Given the description of an element on the screen output the (x, y) to click on. 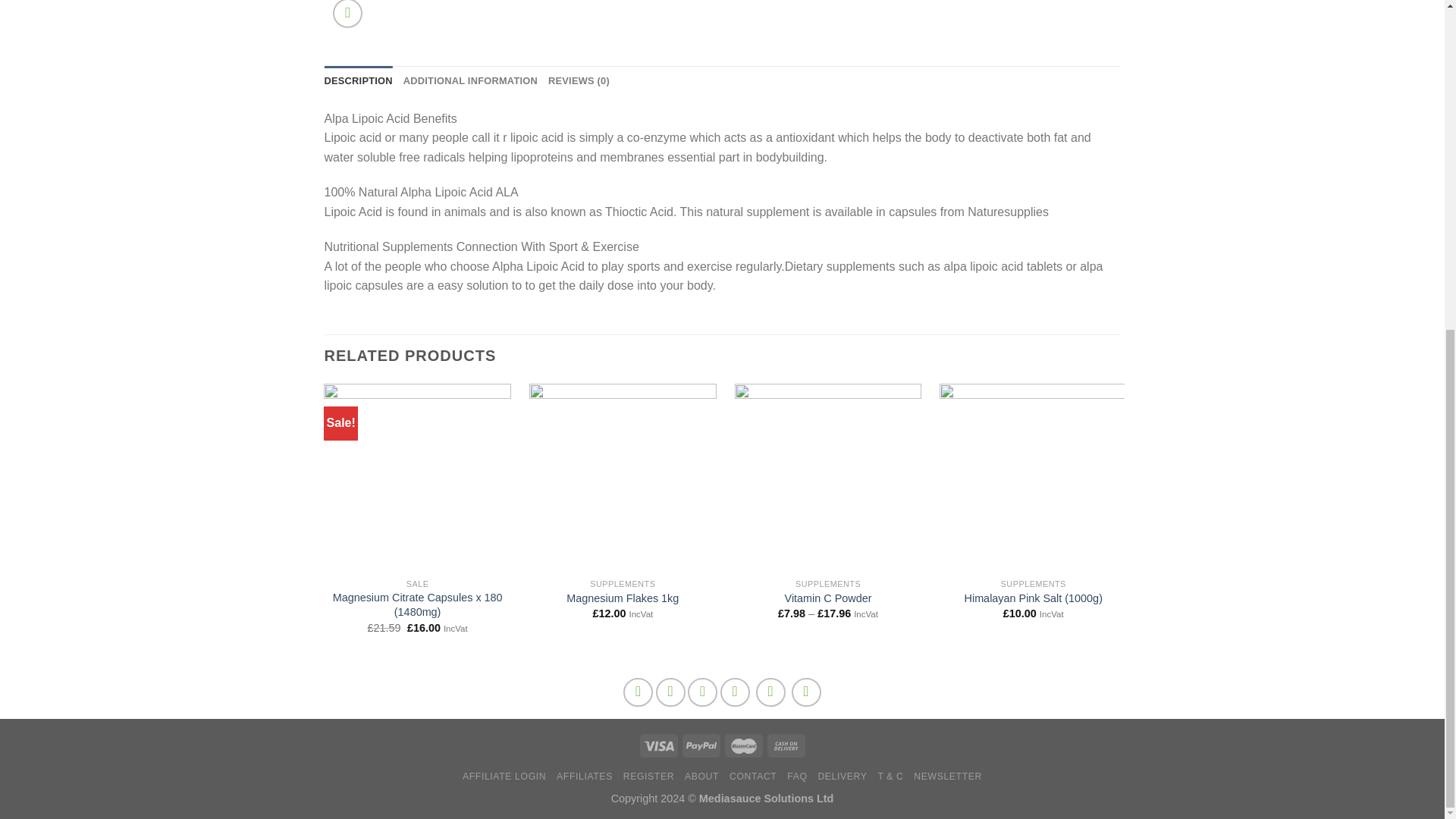
Zoom (347, 13)
alpha-lipoic-tub-1350 (517, 18)
